Given the description of an element on the screen output the (x, y) to click on. 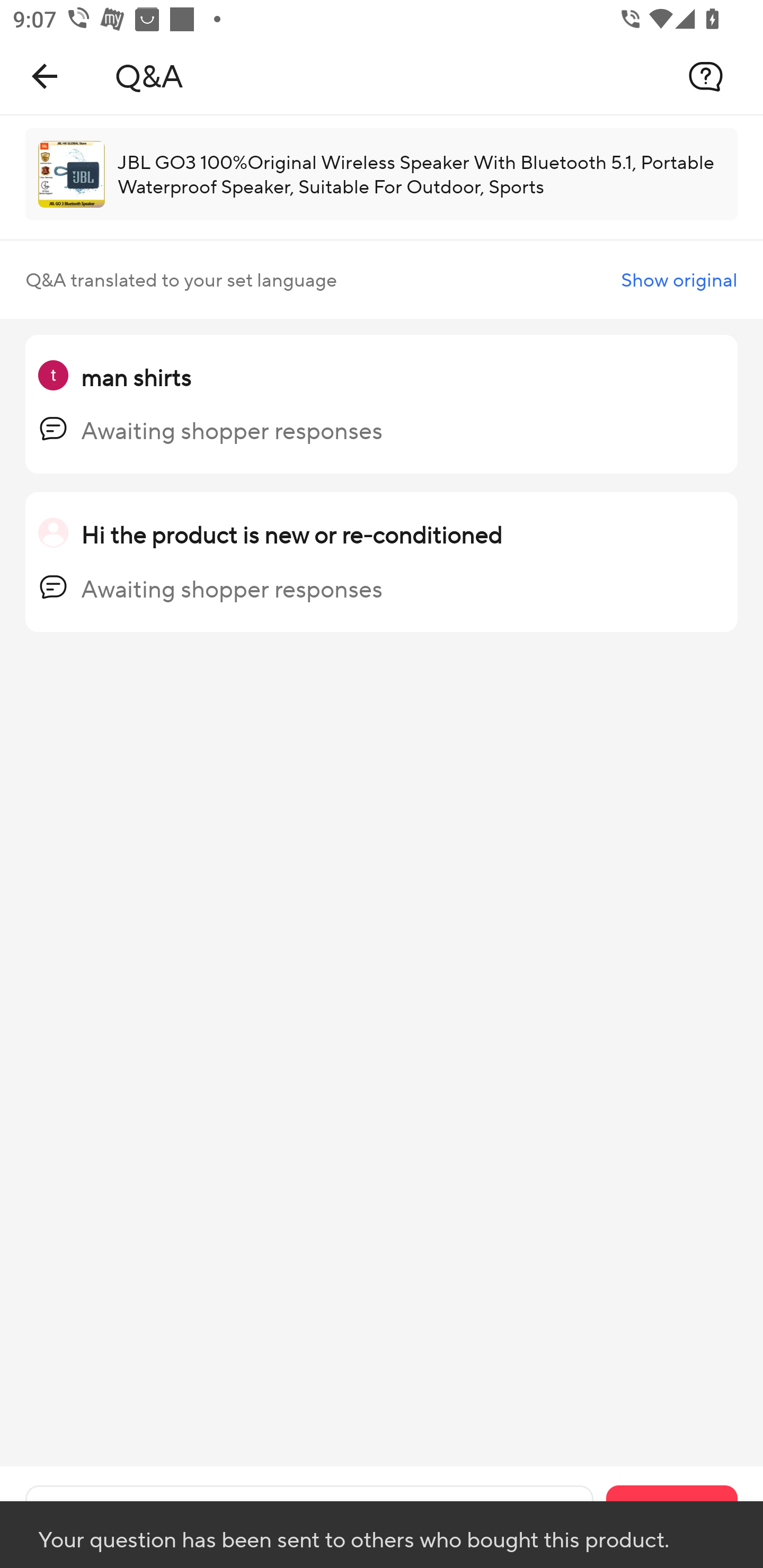
Navigate up (44, 75)
Show original (679, 279)
man shirts
 Awaiting shopper responses (381, 405)
man shirts
 (135, 376)
Awaiting shopper responses (231, 430)
Hi the product is new or re-conditioned (291, 534)
Awaiting shopper responses (231, 589)
